Given the description of an element on the screen output the (x, y) to click on. 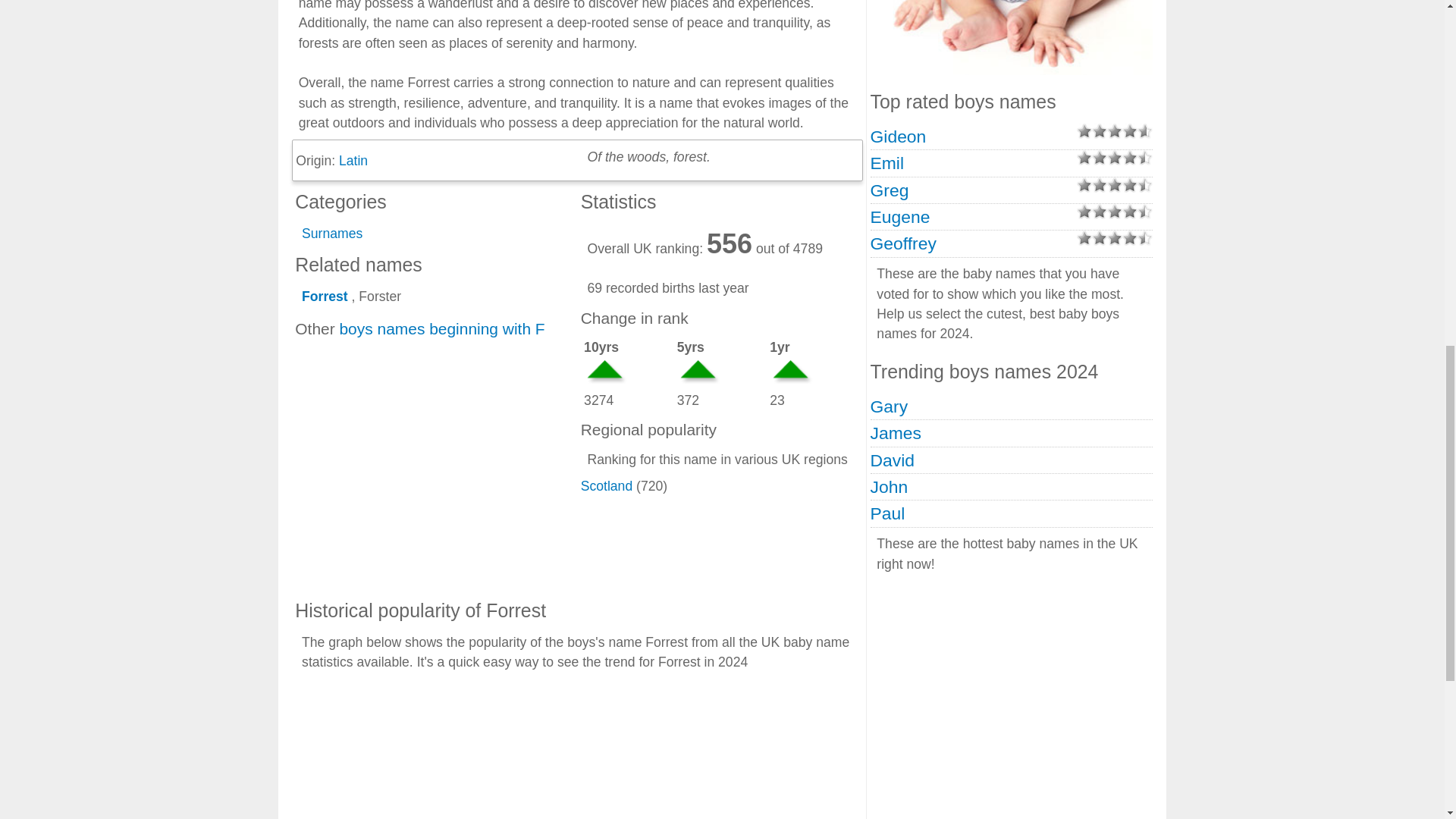
Geoffrey (903, 243)
Greg (889, 189)
Gary (889, 406)
John (889, 486)
Surnames (331, 233)
boys names beginning with F (441, 328)
Latin (353, 160)
Emil (887, 162)
Forrest (324, 296)
Scotland (605, 485)
